Given the description of an element on the screen output the (x, y) to click on. 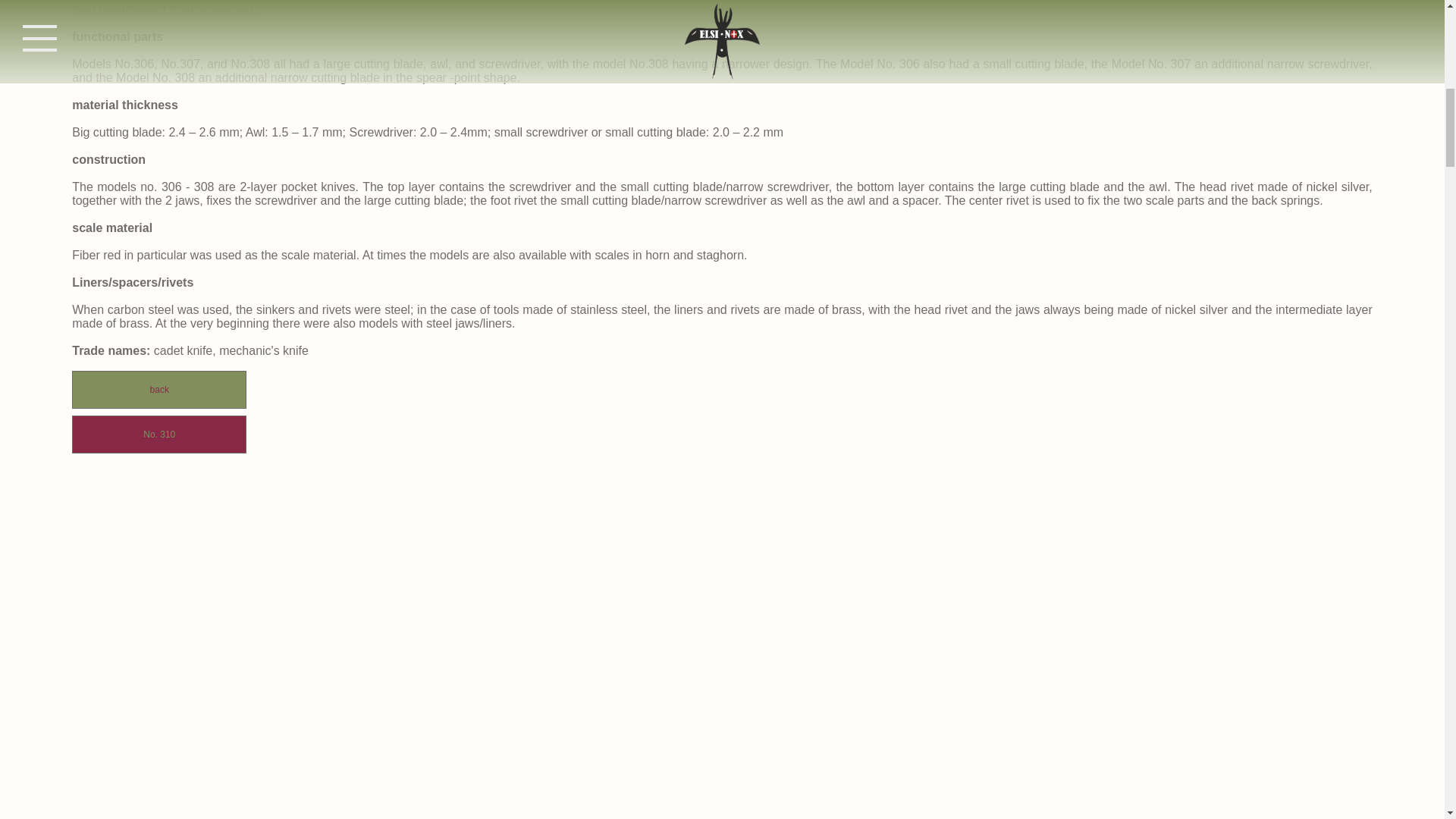
No. 310 (158, 434)
back (158, 389)
